Given the description of an element on the screen output the (x, y) to click on. 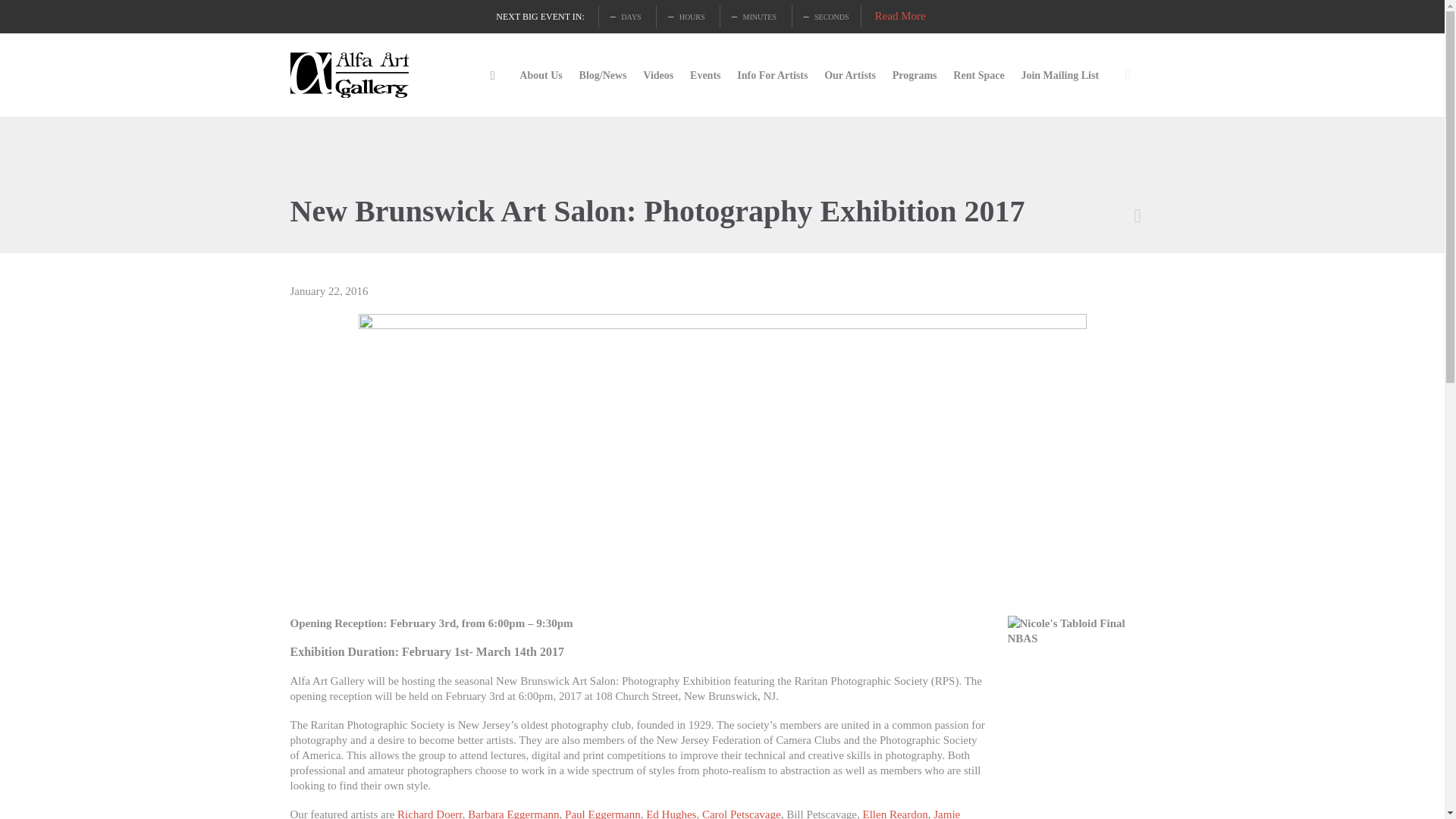
Carol Petscavage (740, 813)
Richard Doerr (430, 813)
Paul Eggermann (602, 813)
Rent Space (978, 76)
Join Mailing List (1059, 76)
Alfa Art Gallery (349, 75)
Read More (900, 15)
Videos (658, 76)
Our Artists (850, 76)
Events (705, 76)
Programs (914, 76)
About Us (541, 76)
Ed Hughes (670, 813)
